Given the description of an element on the screen output the (x, y) to click on. 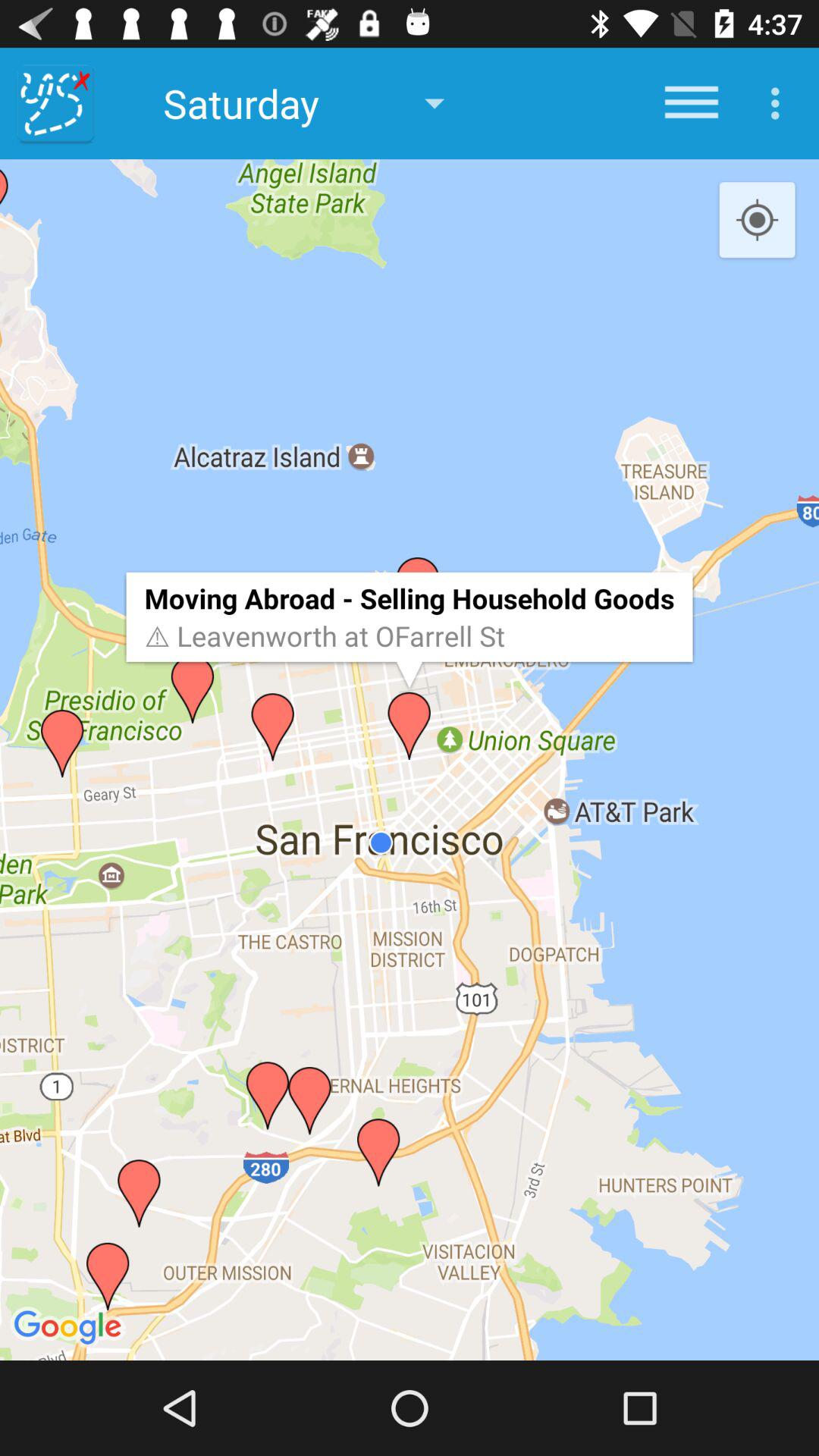
moving way (55, 103)
